Given the description of an element on the screen output the (x, y) to click on. 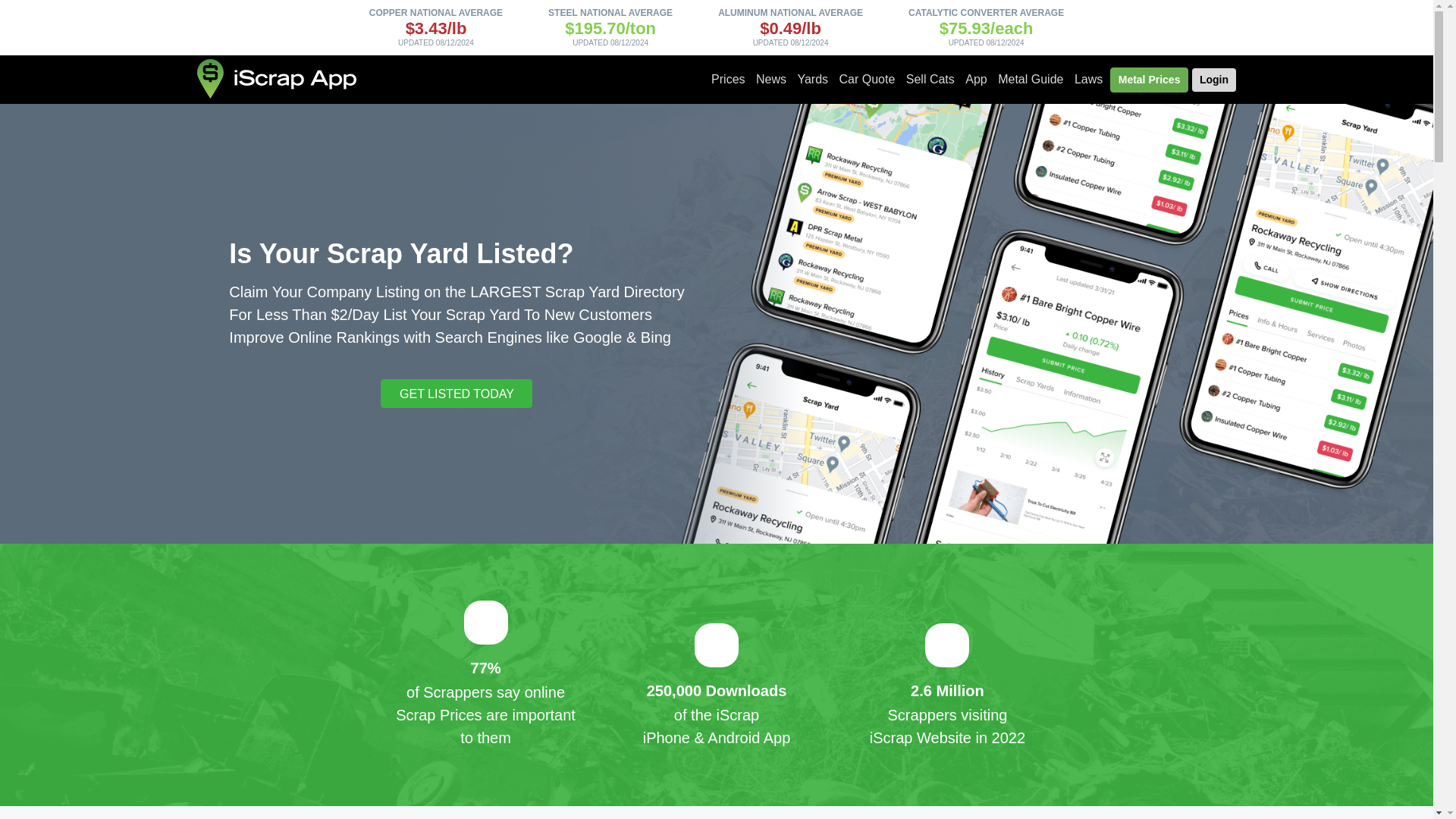
Metal Prices (1149, 79)
Sell Cats (930, 79)
STEEL NATIONAL AVERAGE (610, 12)
COPPER NATIONAL AVERAGE (435, 12)
Metal Guide (1030, 79)
Car Quote (867, 79)
Login (1214, 79)
GET LISTED TODAY (456, 393)
ALUMINUM NATIONAL AVERAGE (790, 12)
CATALYTIC CONVERTER AVERAGE (986, 12)
